Given the description of an element on the screen output the (x, y) to click on. 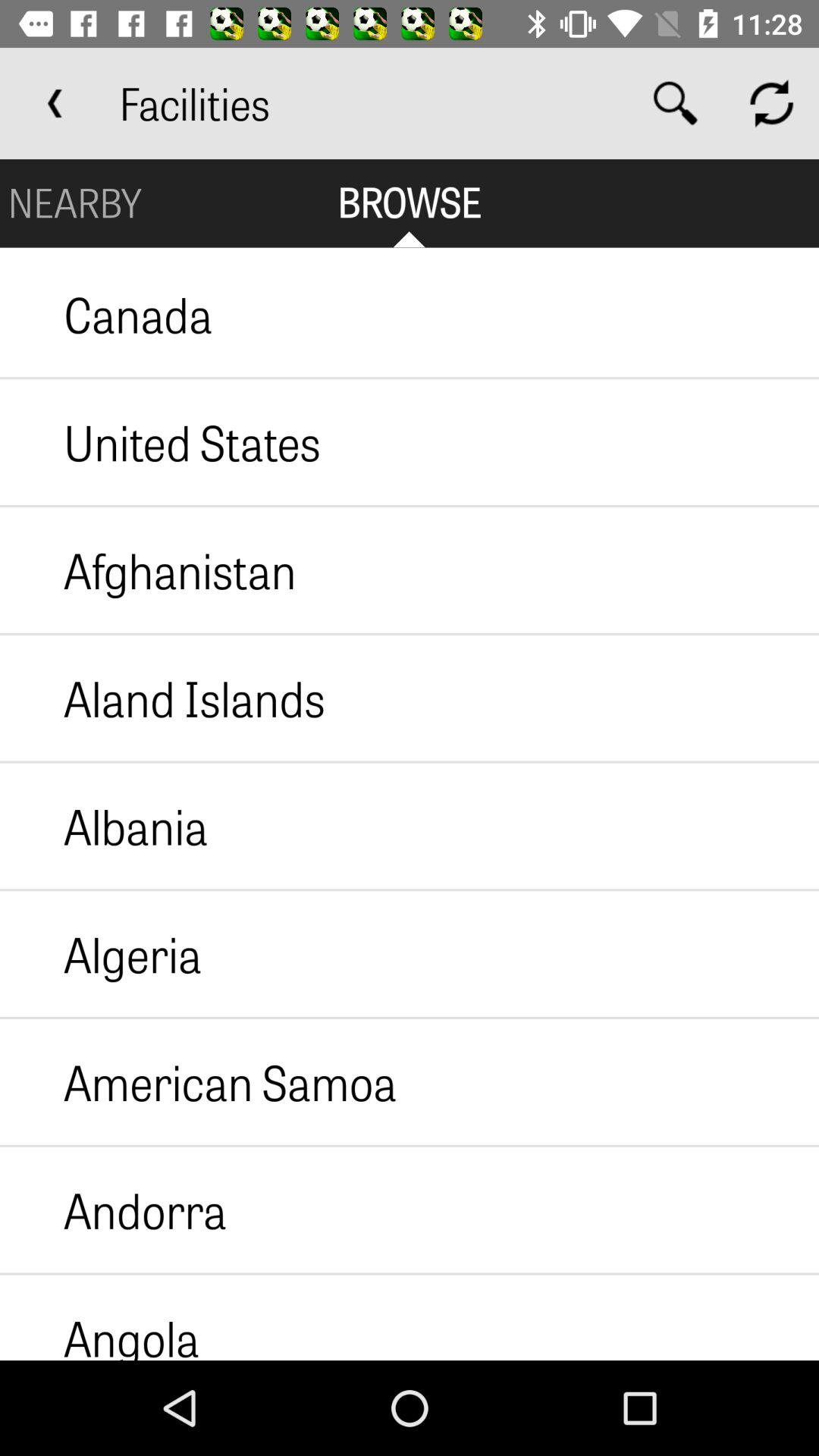
open icon to the right of facilities icon (675, 103)
